Given the description of an element on the screen output the (x, y) to click on. 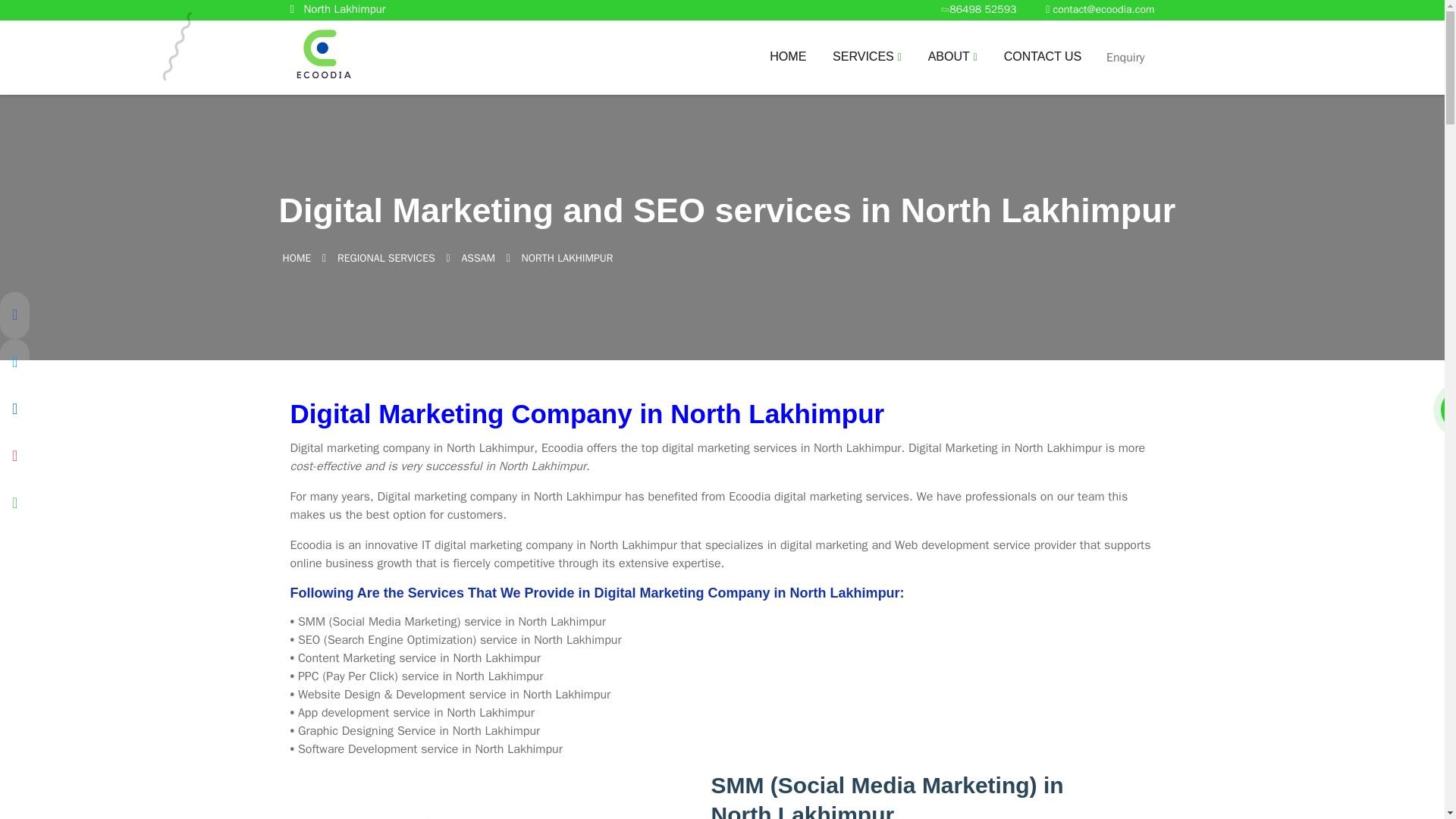
ABOUT (952, 69)
HOME (296, 256)
Digital Marketing Company in North Lakhimpur (721, 413)
SERVICES (866, 69)
86498 52593 (979, 9)
North Lakhimpur (337, 9)
CONTACT US (1042, 69)
HOME (788, 69)
Enquiry (1125, 57)
